Given the description of an element on the screen output the (x, y) to click on. 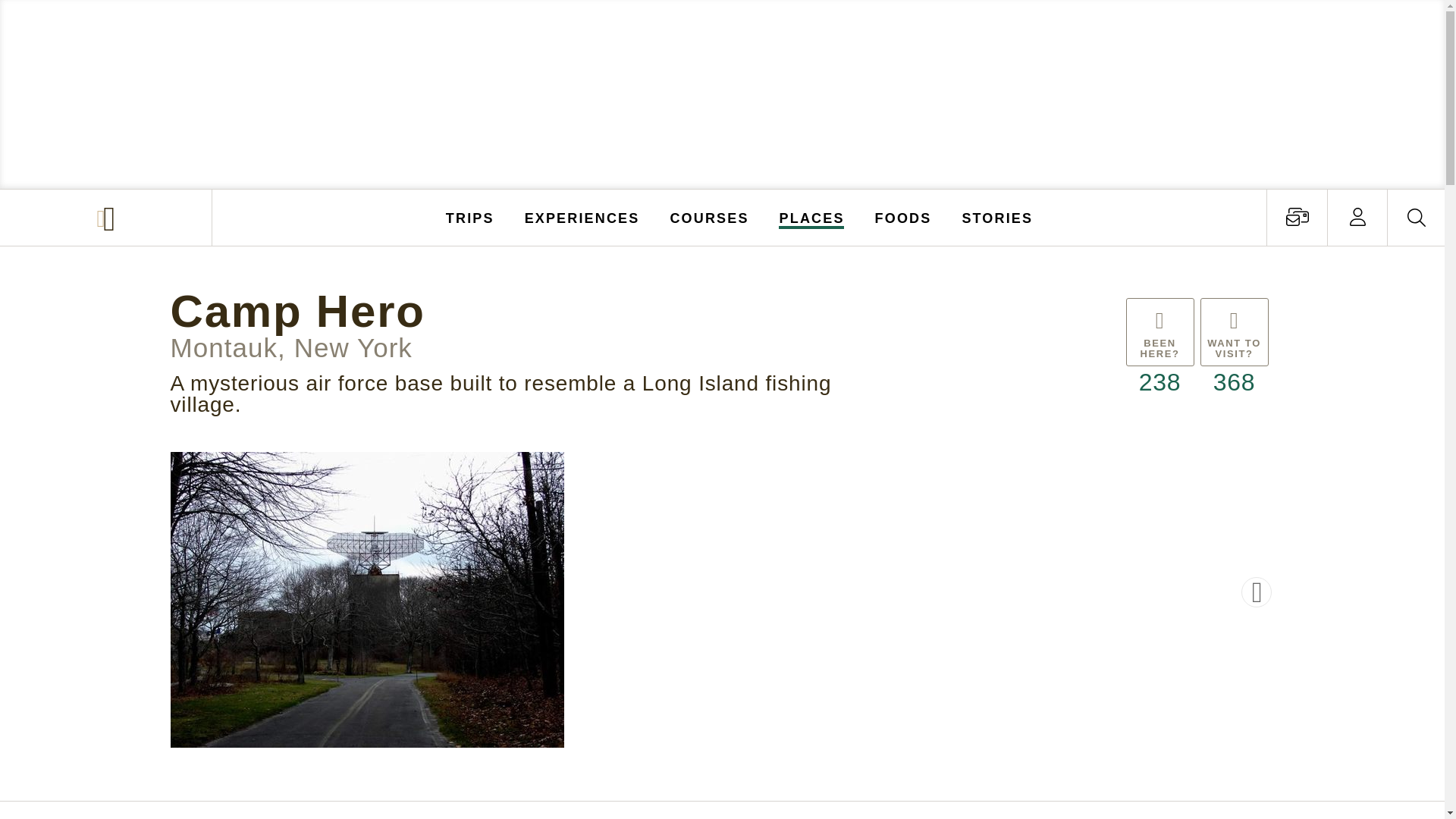
COURSES (707, 217)
TRIPS (469, 217)
EXPERIENCES (582, 217)
PLACES (812, 217)
